Given the description of an element on the screen output the (x, y) to click on. 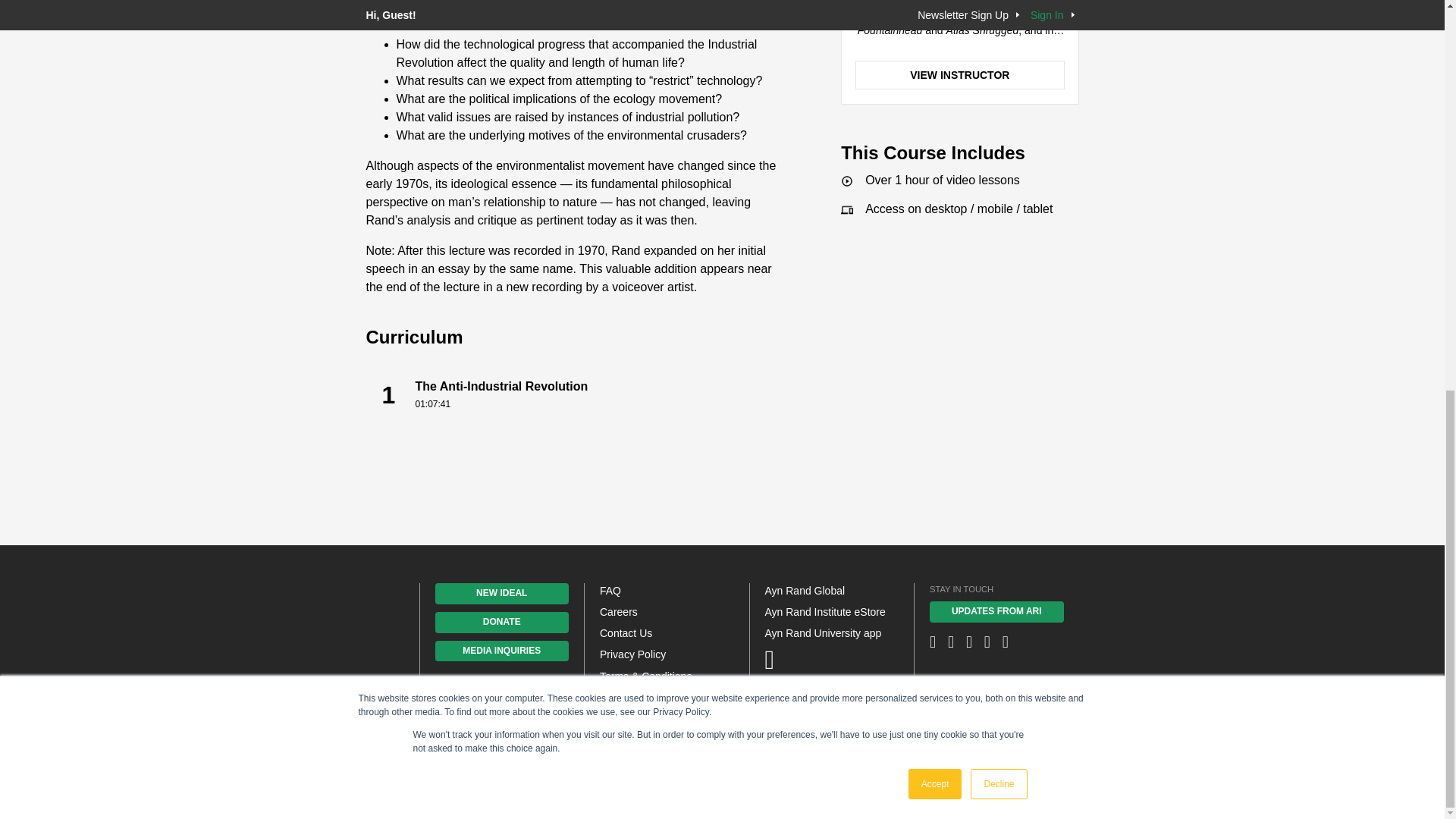
Decline (998, 38)
Accept (935, 38)
VIEW INSTRUCTOR (599, 394)
